Given the description of an element on the screen output the (x, y) to click on. 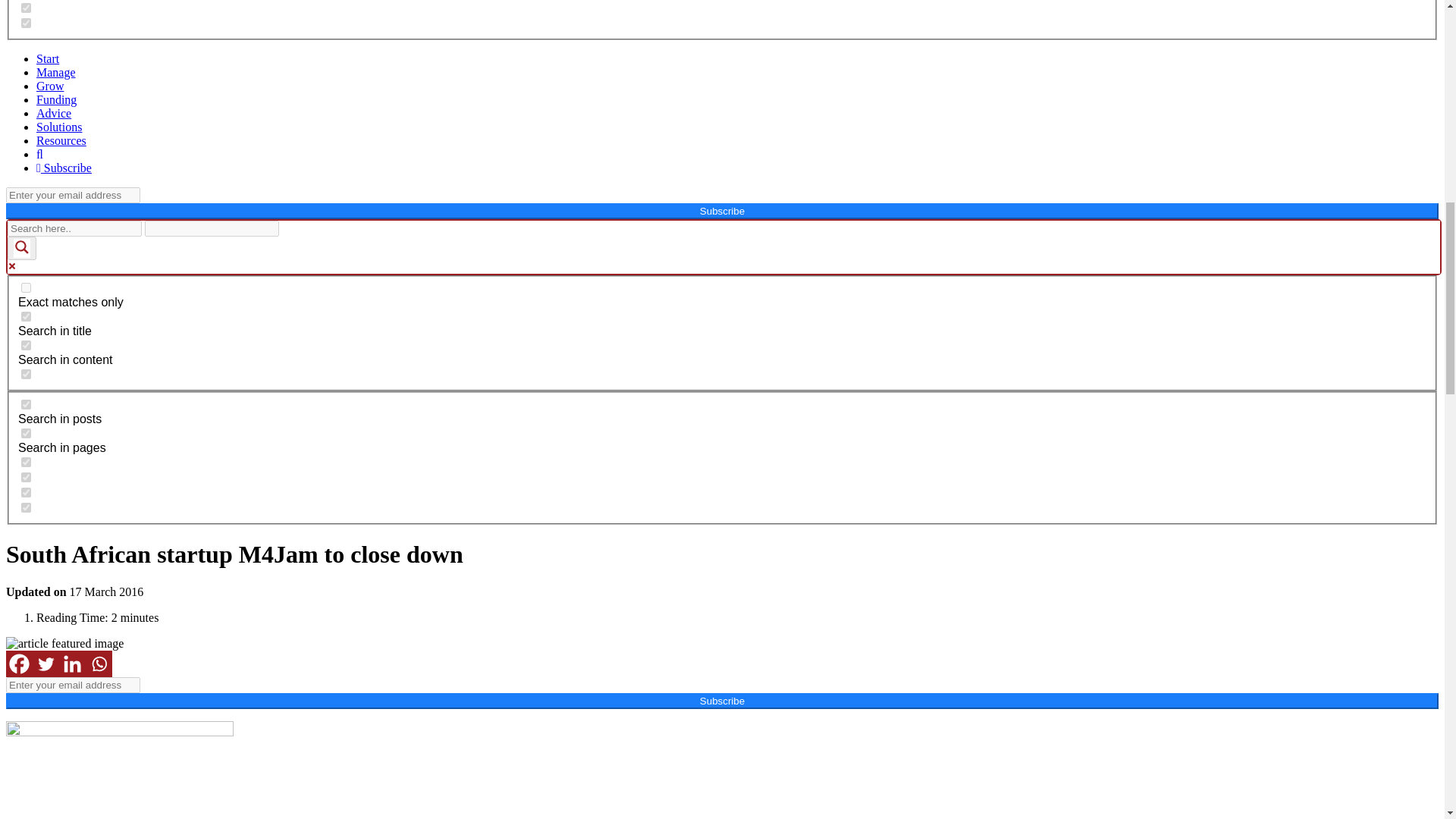
brands (25, 22)
Manage (55, 72)
Advice (53, 113)
Grow (50, 85)
Facebook (18, 663)
Funding (56, 99)
content (25, 345)
Subscribe (63, 167)
exact (25, 287)
Twitter (45, 663)
title (25, 316)
post (25, 404)
Start search (288, 222)
Solutions (58, 126)
Resources (60, 140)
